Given the description of an element on the screen output the (x, y) to click on. 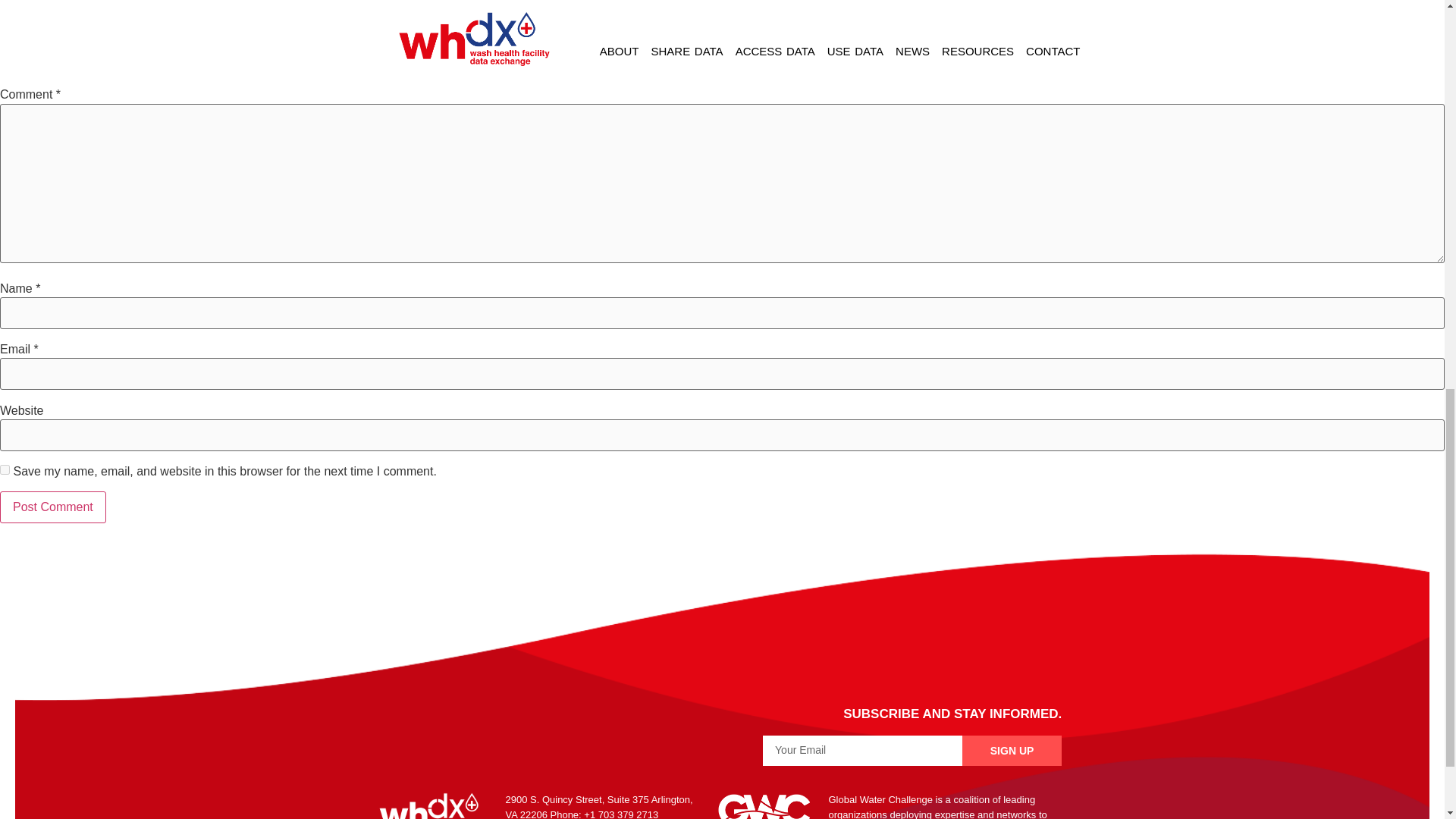
SIGN UP (1011, 750)
Post Comment (53, 507)
Post Comment (53, 507)
yes (5, 470)
